Given the description of an element on the screen output the (x, y) to click on. 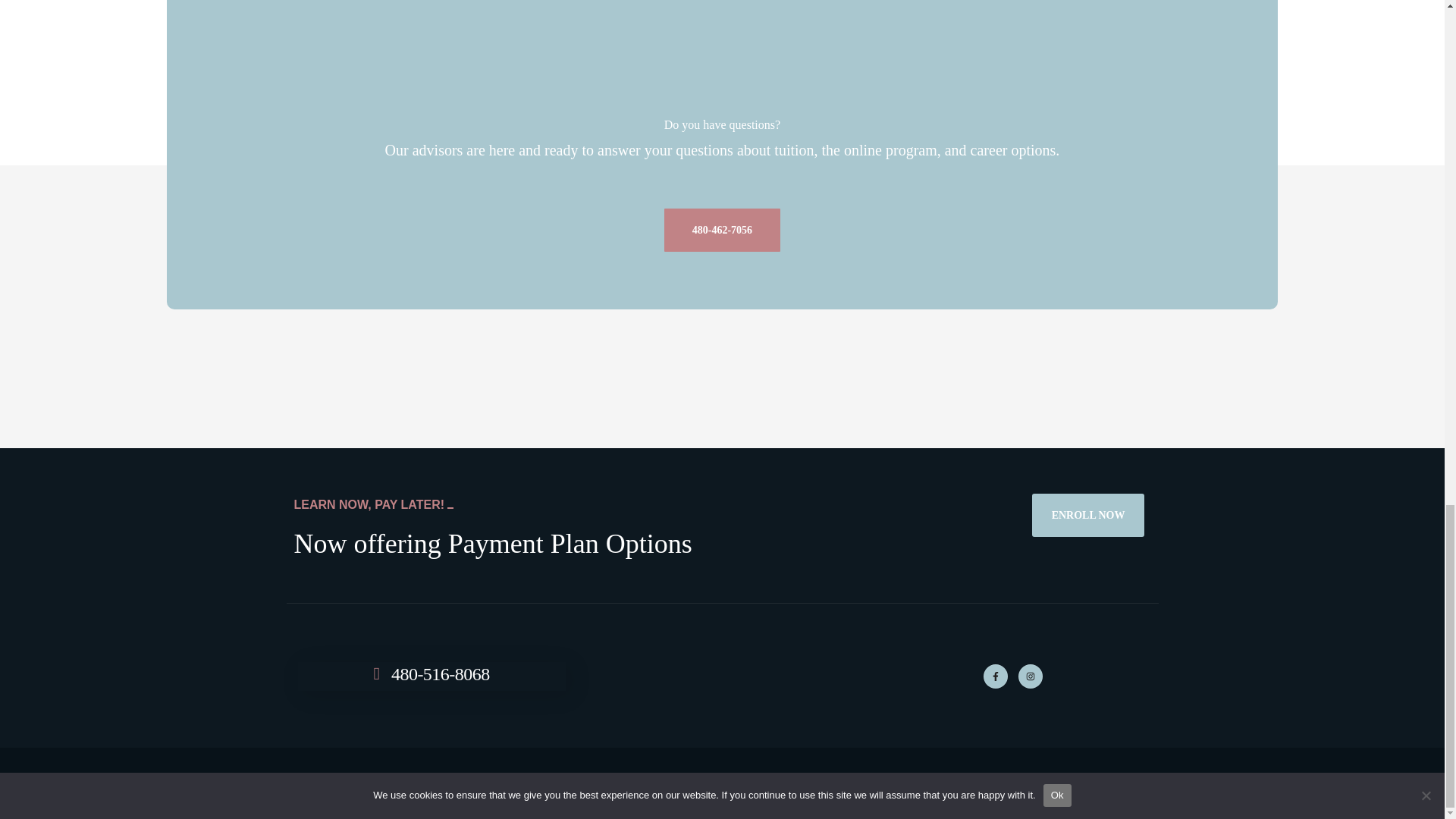
logo-white (721, 60)
logo-white (721, 676)
Facebook (995, 676)
Instagram (1029, 676)
